Given the description of an element on the screen output the (x, y) to click on. 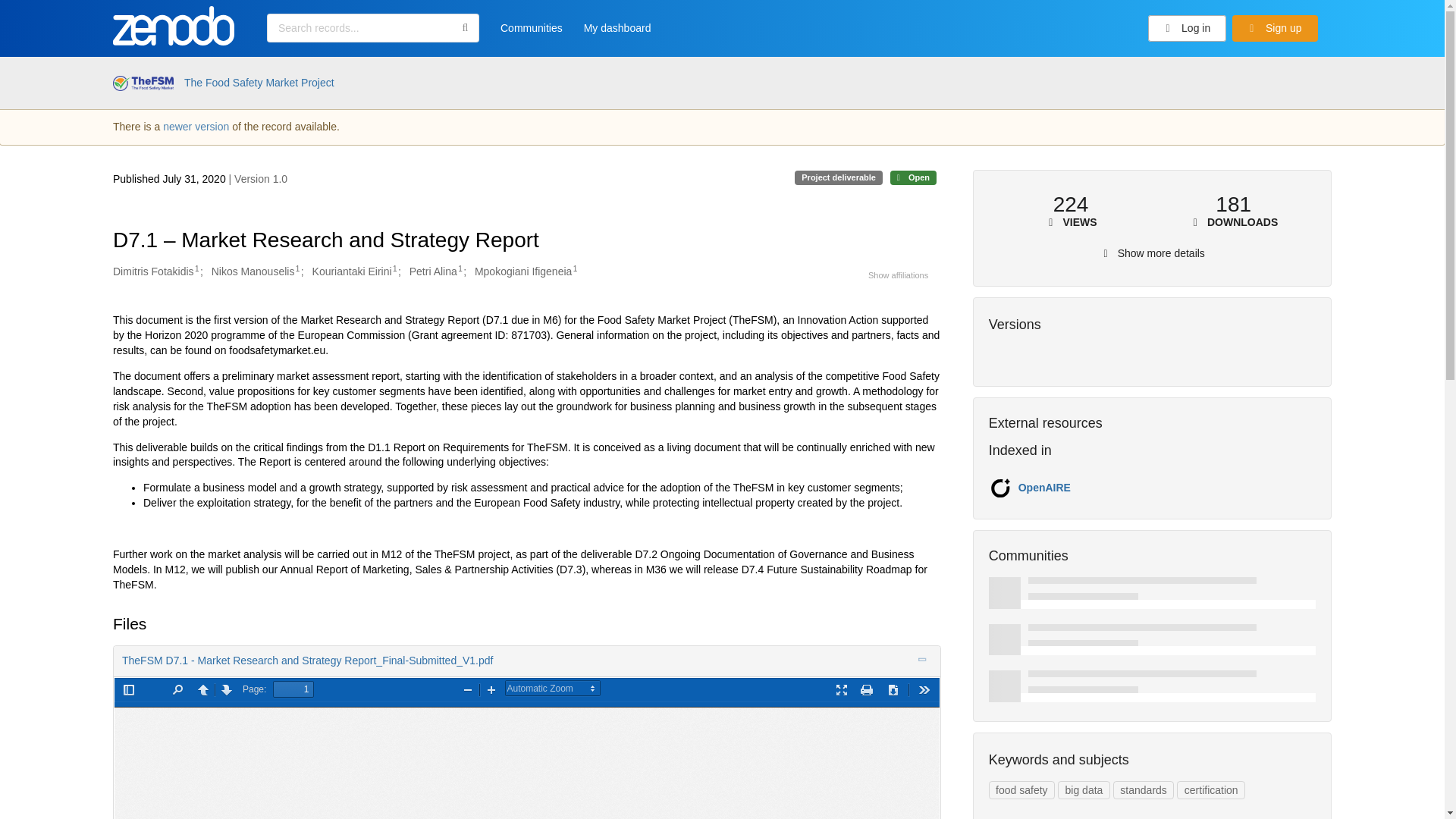
OpenAIRE (1043, 487)
newer version (195, 126)
Search results for big data (1083, 790)
Dimitris Fotakidis1 (156, 272)
Search results for food safety (1021, 790)
food safety (1021, 790)
standards (1143, 790)
Sign up (1274, 28)
big data (1083, 790)
Skip to main (49, 17)
